Given the description of an element on the screen output the (x, y) to click on. 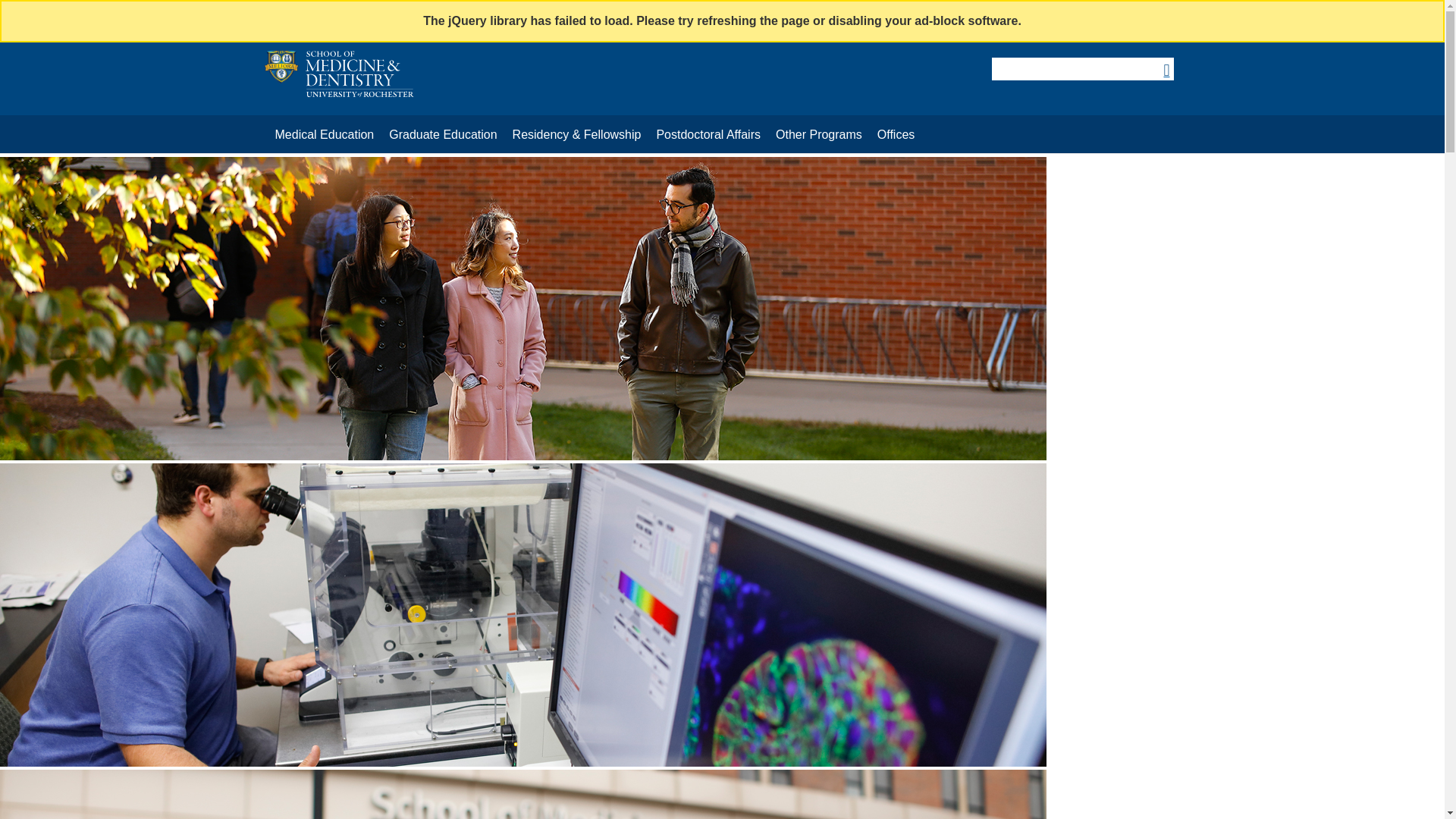
Medical Education (323, 135)
Graduate Education (442, 135)
Search URMC (1080, 68)
Graduate Education Programs (442, 135)
Medical Education (323, 135)
